Given the description of an element on the screen output the (x, y) to click on. 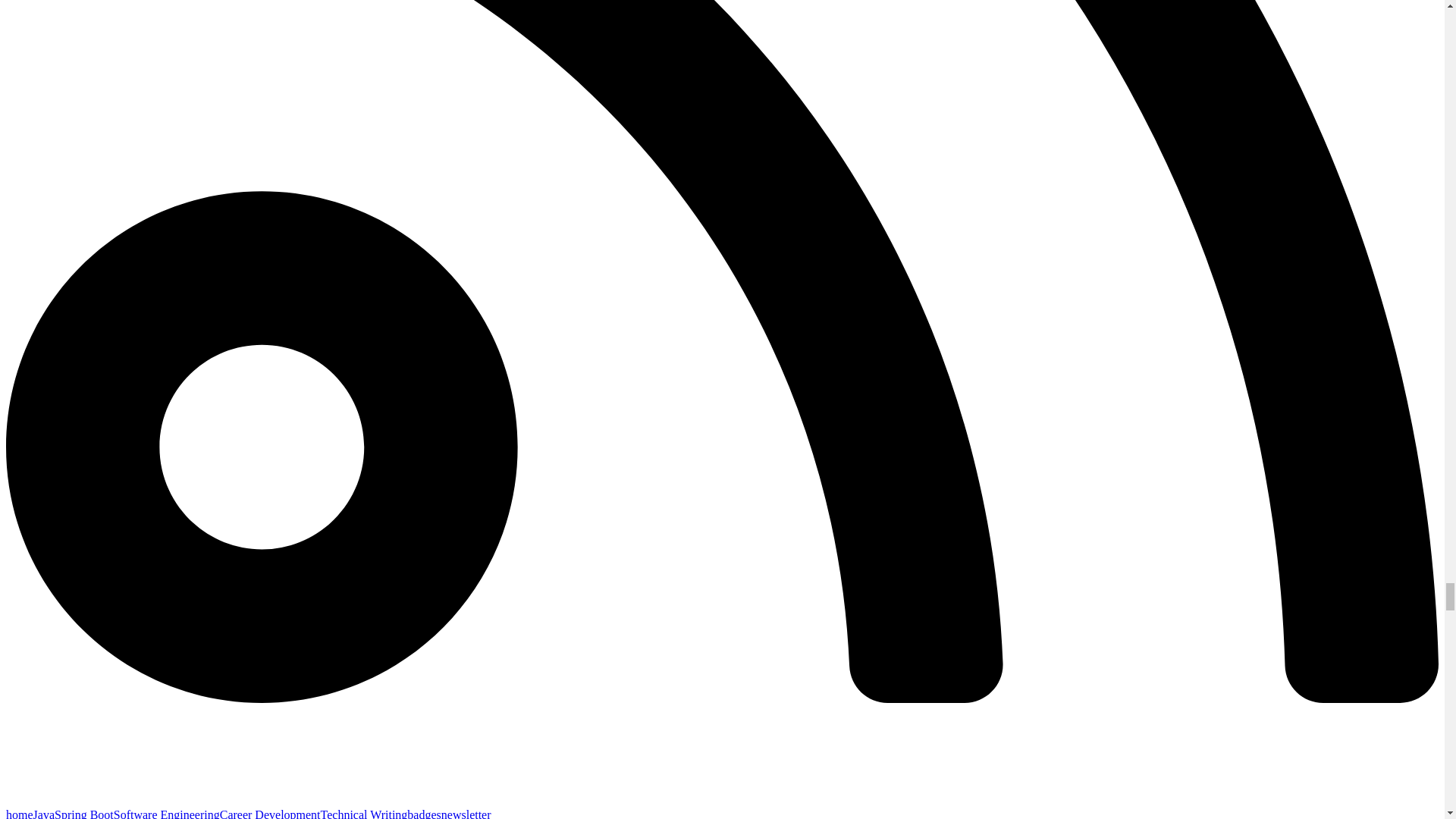
Spring Boot (84, 813)
Career Development (269, 813)
Technical Writing (363, 813)
badges (424, 813)
home (19, 813)
Software Engineering (166, 813)
Java (44, 813)
newsletter (466, 813)
